Given the description of an element on the screen output the (x, y) to click on. 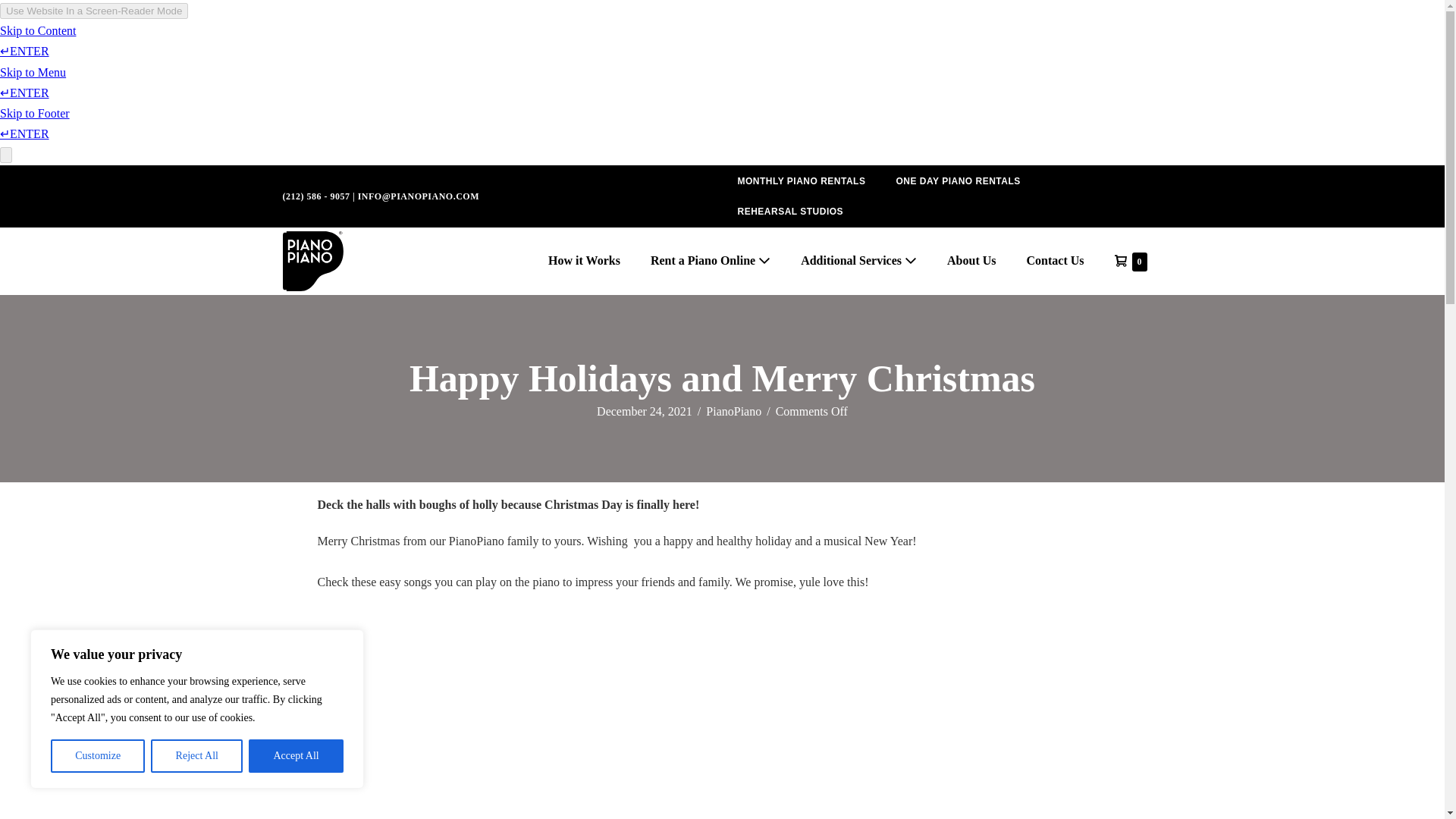
Accept All (295, 756)
Contact Us (1055, 261)
Shopping Cart (1130, 261)
REHEARSAL STUDIOS (790, 211)
Additional Services (858, 261)
Reject All (197, 756)
Rent a Piano Online (710, 261)
How it Works (583, 261)
Customize (97, 756)
About Us (1130, 261)
ONE DAY PIANO RENTALS (970, 261)
MONTHLY PIANO RENTALS (957, 180)
